Given the description of an element on the screen output the (x, y) to click on. 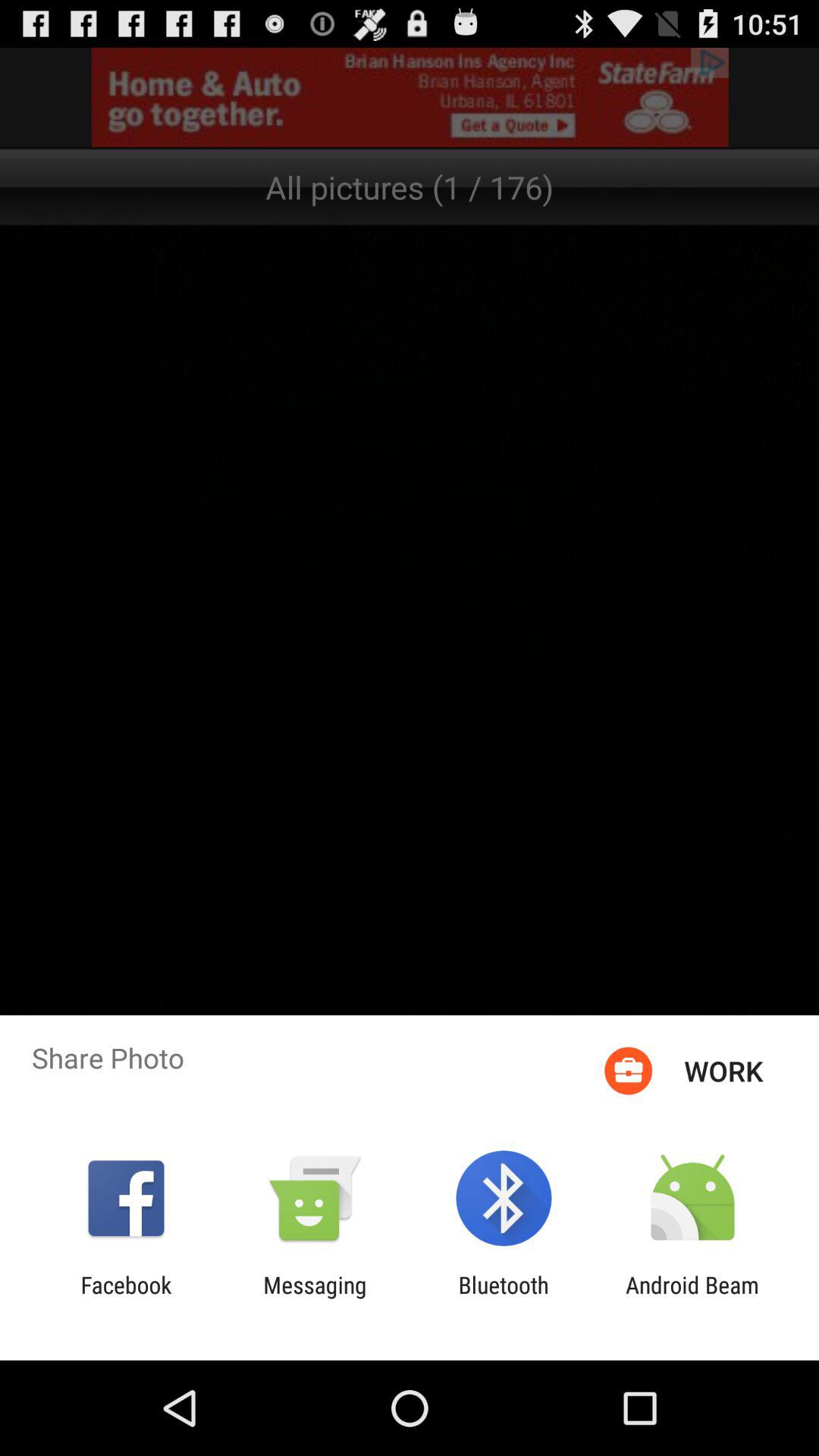
launch the item to the left of bluetooth (314, 1298)
